Given the description of an element on the screen output the (x, y) to click on. 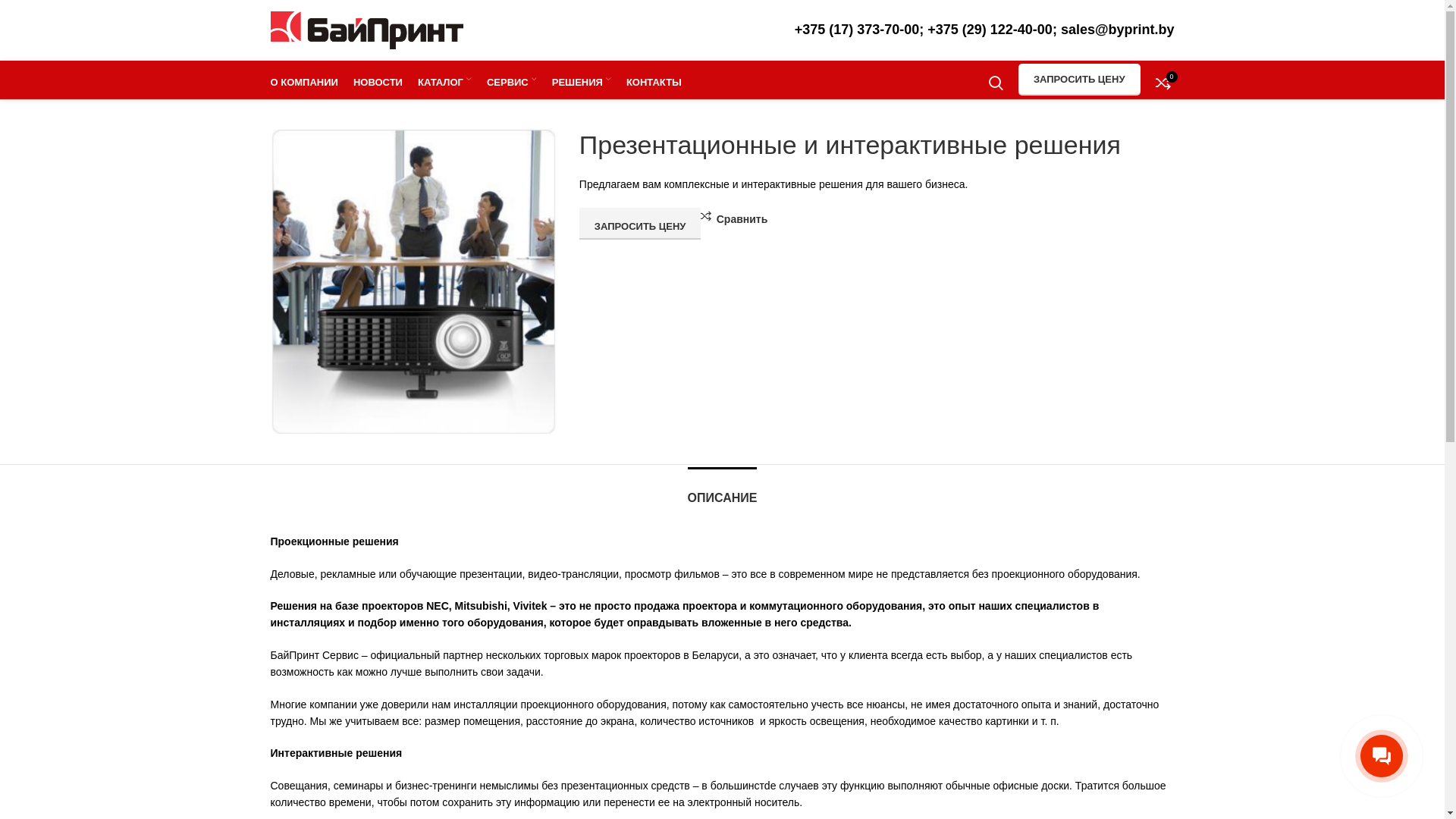
+375 (29) 122-40-00 Element type: text (989, 29)
0 Element type: text (1163, 79)
projector_solution Element type: hover (412, 281)
sales@byprint.by Element type: text (1117, 29)
+375 (17) 373-70-00 Element type: text (856, 29)
